Given the description of an element on the screen output the (x, y) to click on. 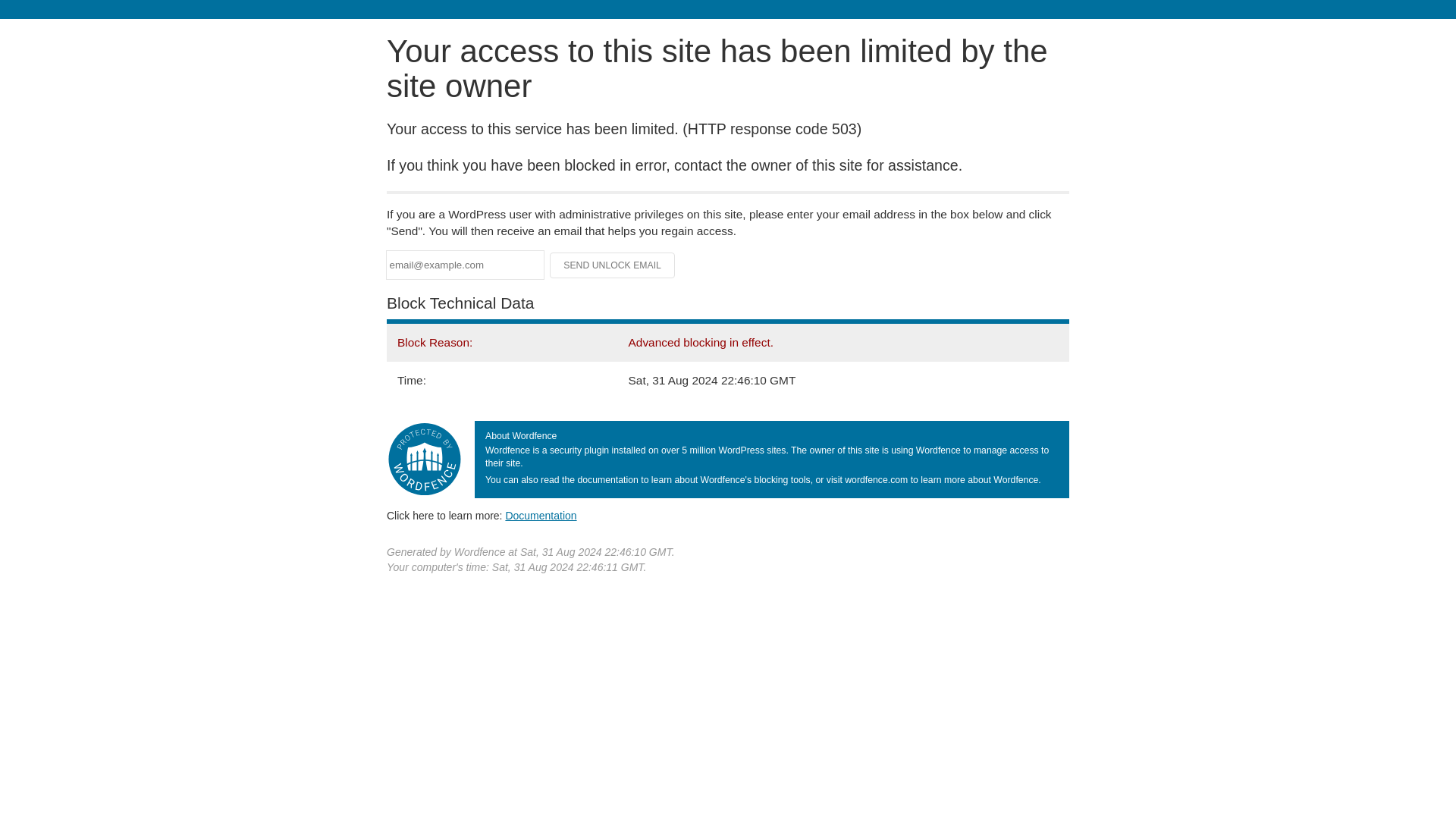
Send Unlock Email (612, 265)
Send Unlock Email (612, 265)
Documentation (540, 515)
